Given the description of an element on the screen output the (x, y) to click on. 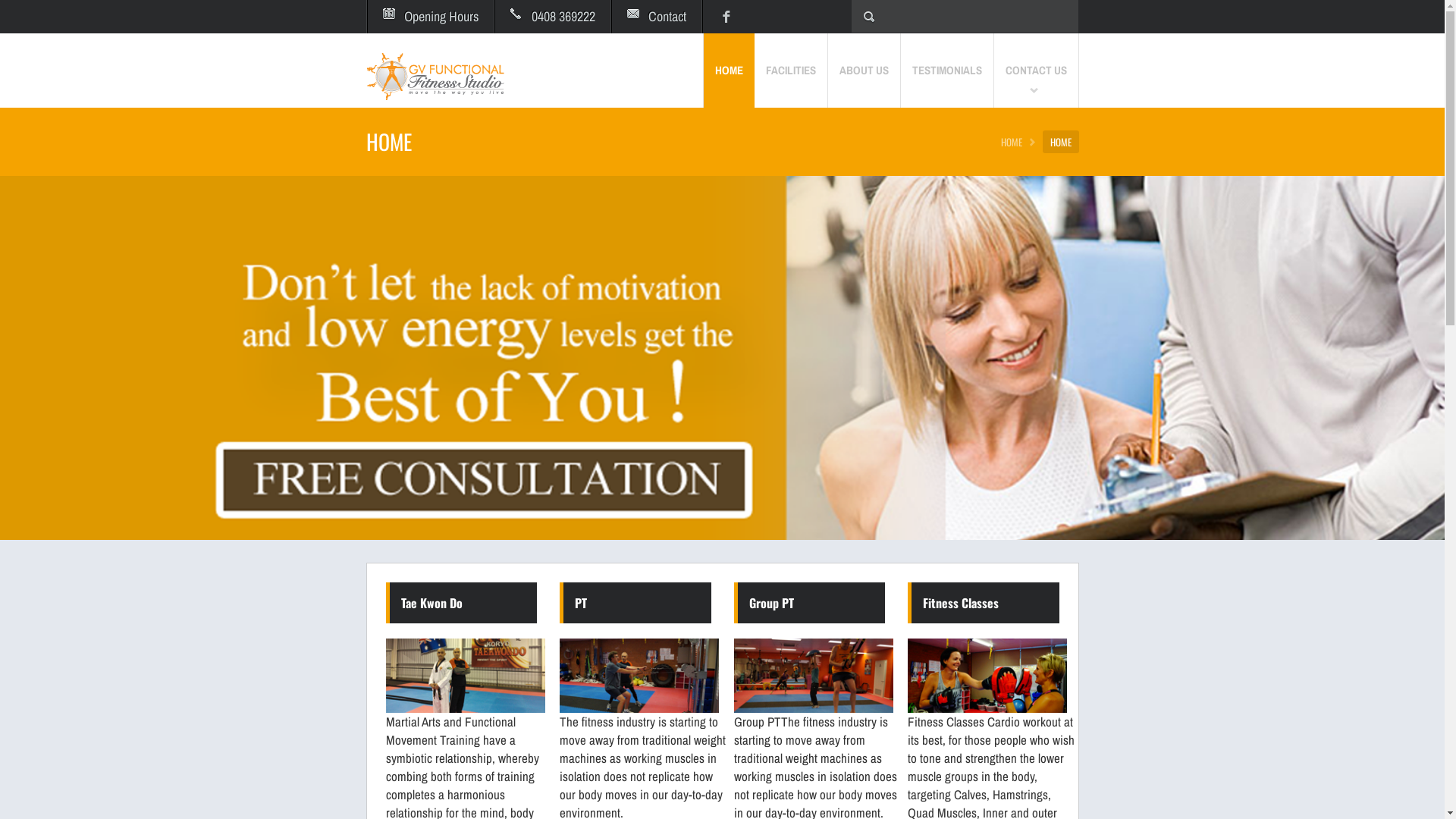
ABOUT US Element type: text (864, 70)
HOME Element type: text (1015, 141)
Search Element type: text (88, 16)
HOME Element type: text (728, 70)
FACILITIES Element type: text (790, 70)
TESTIMONIALS Element type: text (947, 70)
